Given the description of an element on the screen output the (x, y) to click on. 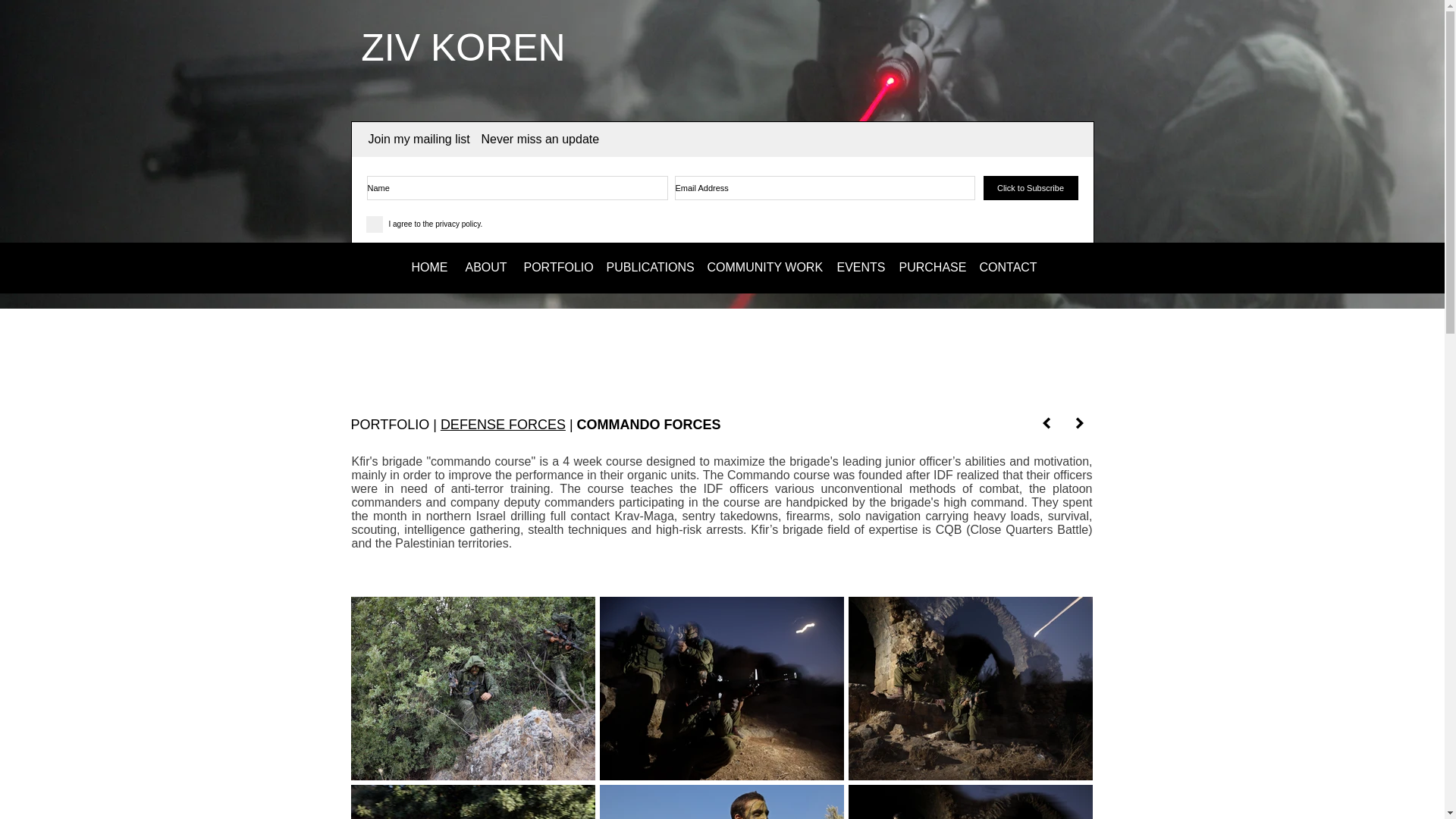
NEXT PAGE (1078, 422)
PREVIOUS PAGE (1045, 422)
COMMUNITY WORK (762, 267)
DEFENSE FORCES (503, 424)
HOME (428, 267)
ZIV KOREN (463, 47)
CONTACT (1006, 267)
PORTFOLIO (554, 267)
Click to Subscribe (1029, 187)
